Given the description of an element on the screen output the (x, y) to click on. 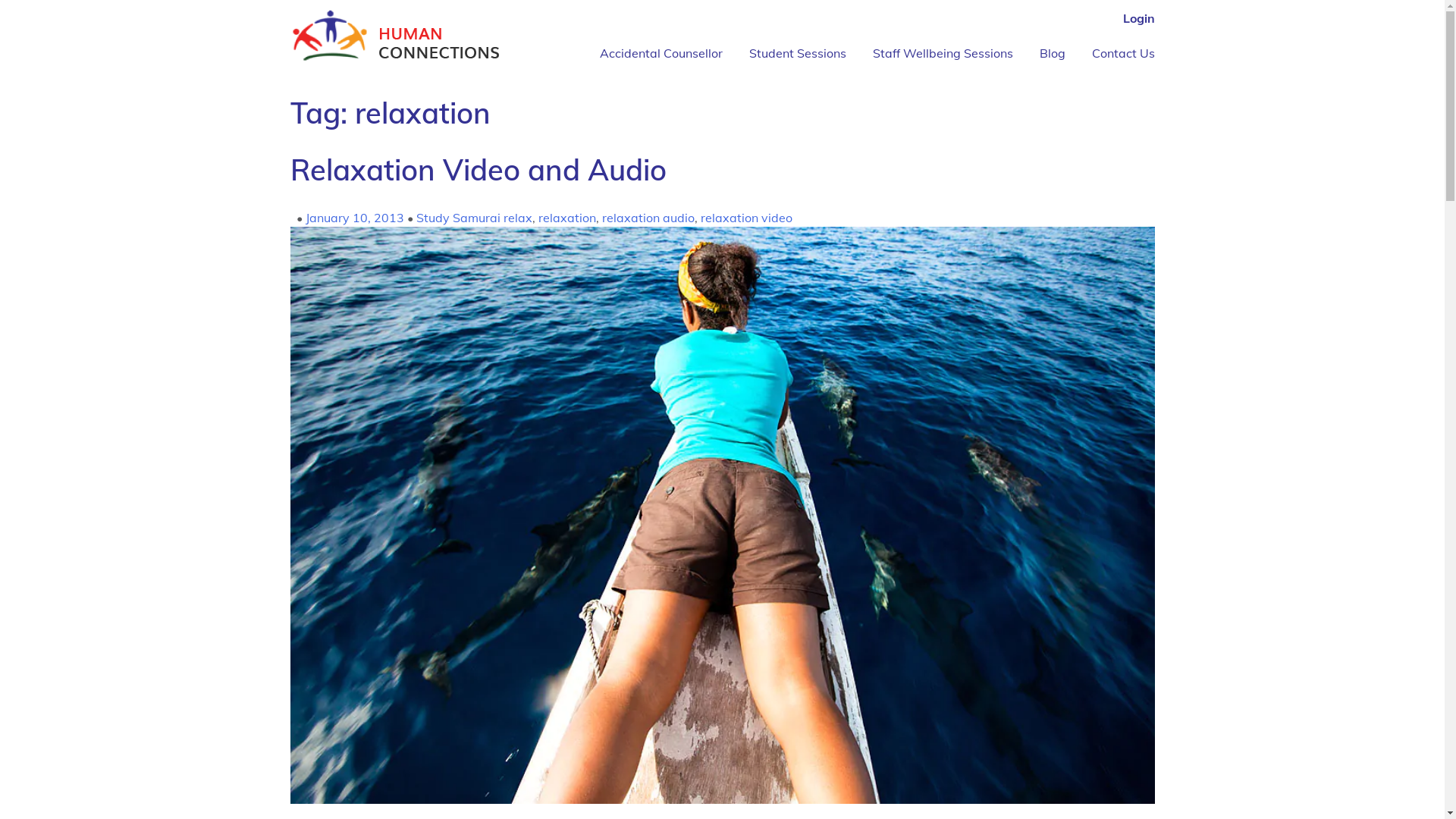
relaxation video Element type: text (746, 217)
relaxation audio Element type: text (648, 217)
Login Element type: text (1138, 17)
relax Element type: text (517, 217)
Staff Wellbeing Sessions Element type: text (942, 52)
January 10, 2013 Element type: text (353, 217)
Accidental Counsellor Element type: text (660, 52)
Study Samurai Element type: text (457, 217)
Contact Us Element type: text (1123, 52)
Blog Element type: text (1051, 52)
relaxation Element type: text (567, 217)
Student Sessions Element type: text (797, 52)
